Given the description of an element on the screen output the (x, y) to click on. 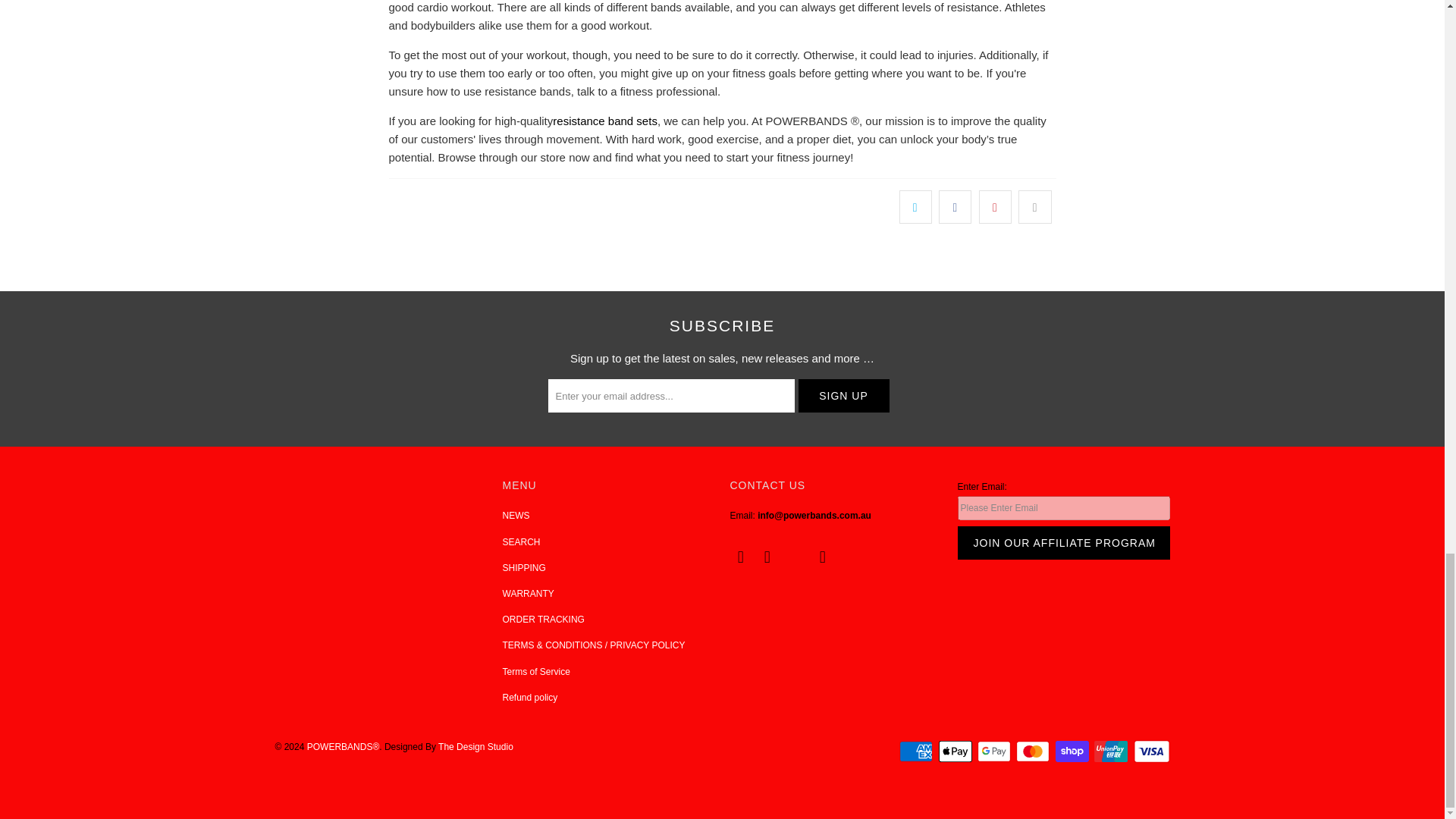
Visa (1150, 751)
Google Pay (994, 751)
Mastercard (1034, 751)
Join Our Affiliate Program (1062, 542)
Sign Up (842, 395)
Share this on Pinterest (994, 206)
Union Pay (1112, 751)
Share this on Twitter (915, 206)
Shop Pay (1073, 751)
American Express (917, 751)
Email this to a friend (1034, 206)
Share this on Facebook (955, 206)
Apple Pay (957, 751)
